Given the description of an element on the screen output the (x, y) to click on. 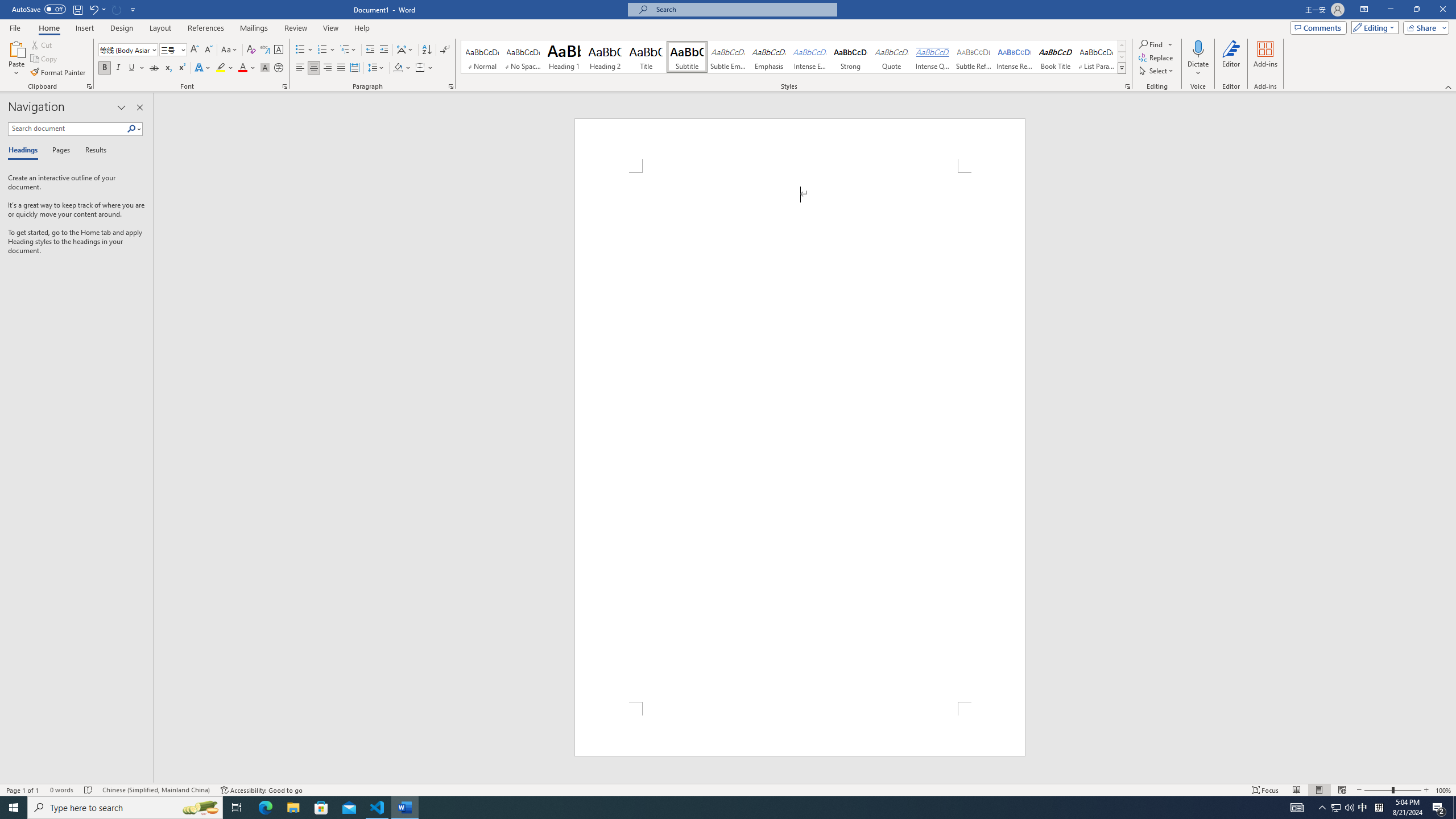
Intense Quote (932, 56)
